Given the description of an element on the screen output the (x, y) to click on. 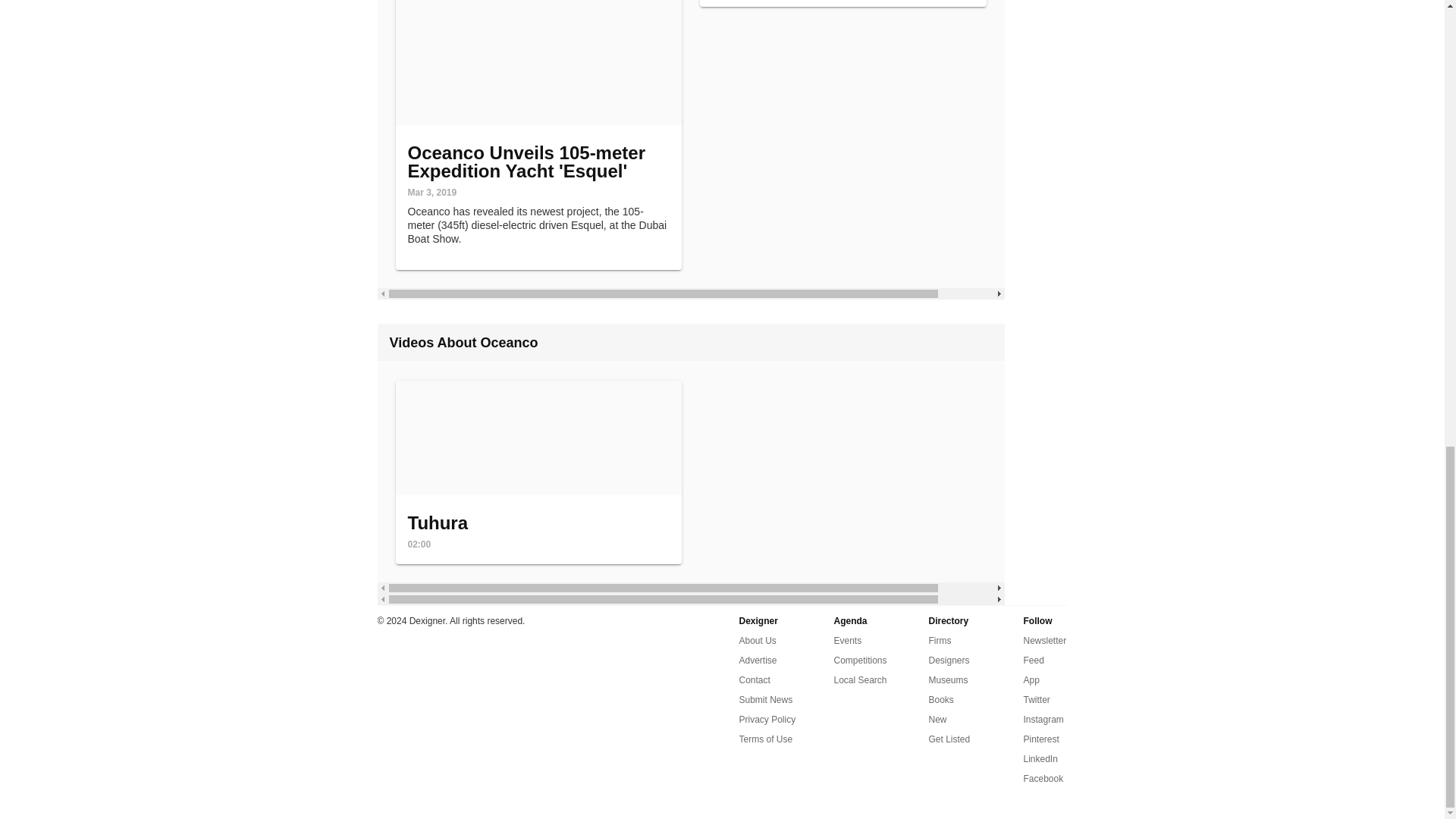
Contact (754, 679)
Firms (939, 640)
Local Search (860, 679)
Designers (948, 660)
Events (847, 640)
Books (940, 700)
Competitions (860, 660)
Advertise (757, 660)
Museums (948, 679)
Terms of Use (539, 472)
Privacy Policy (765, 739)
Submit News (766, 719)
About Us (765, 700)
